Given the description of an element on the screen output the (x, y) to click on. 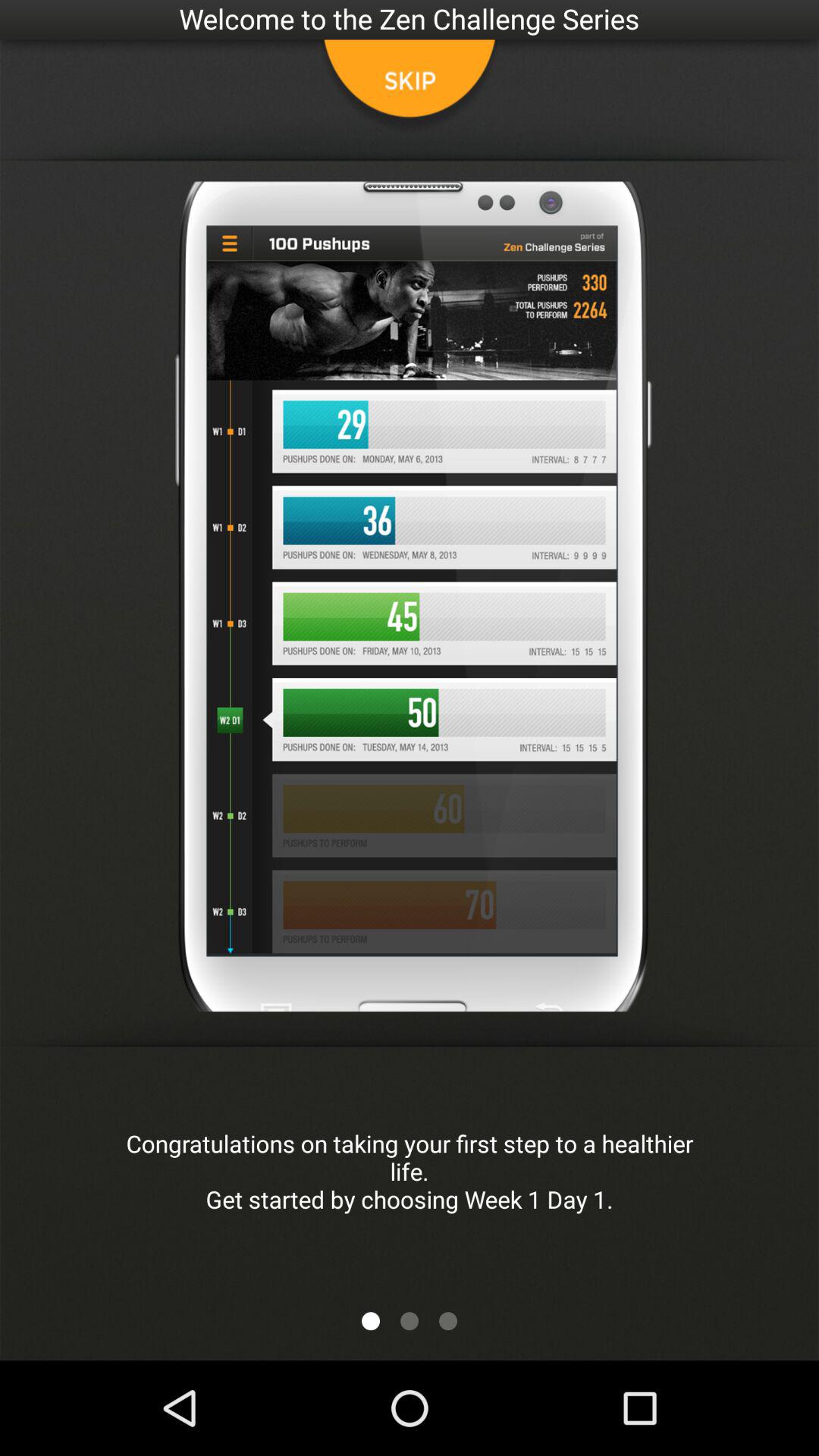
skip button (409, 87)
